Given the description of an element on the screen output the (x, y) to click on. 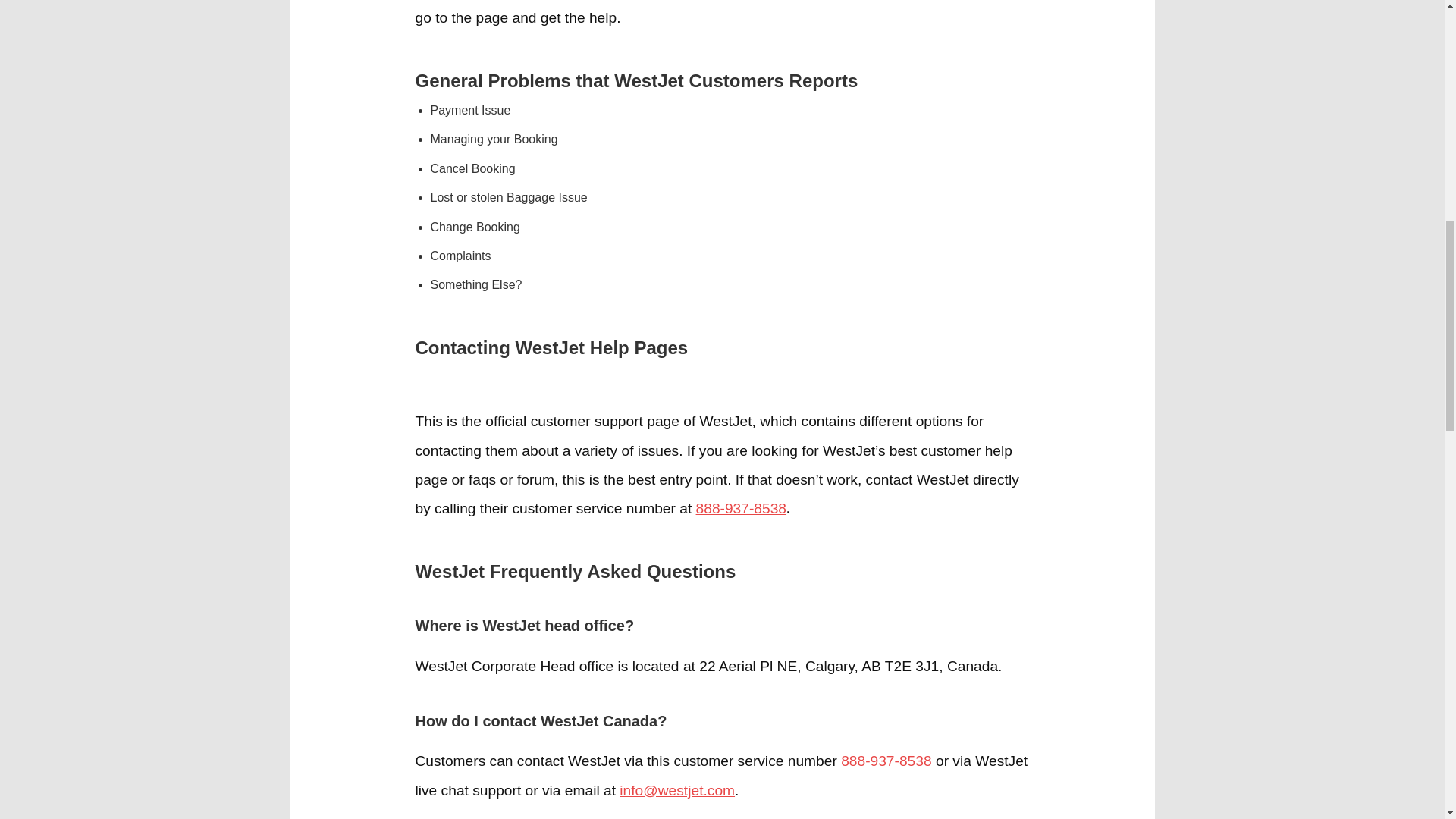
888-937-8538 (886, 760)
888-937-8538 (741, 508)
